Given the description of an element on the screen output the (x, y) to click on. 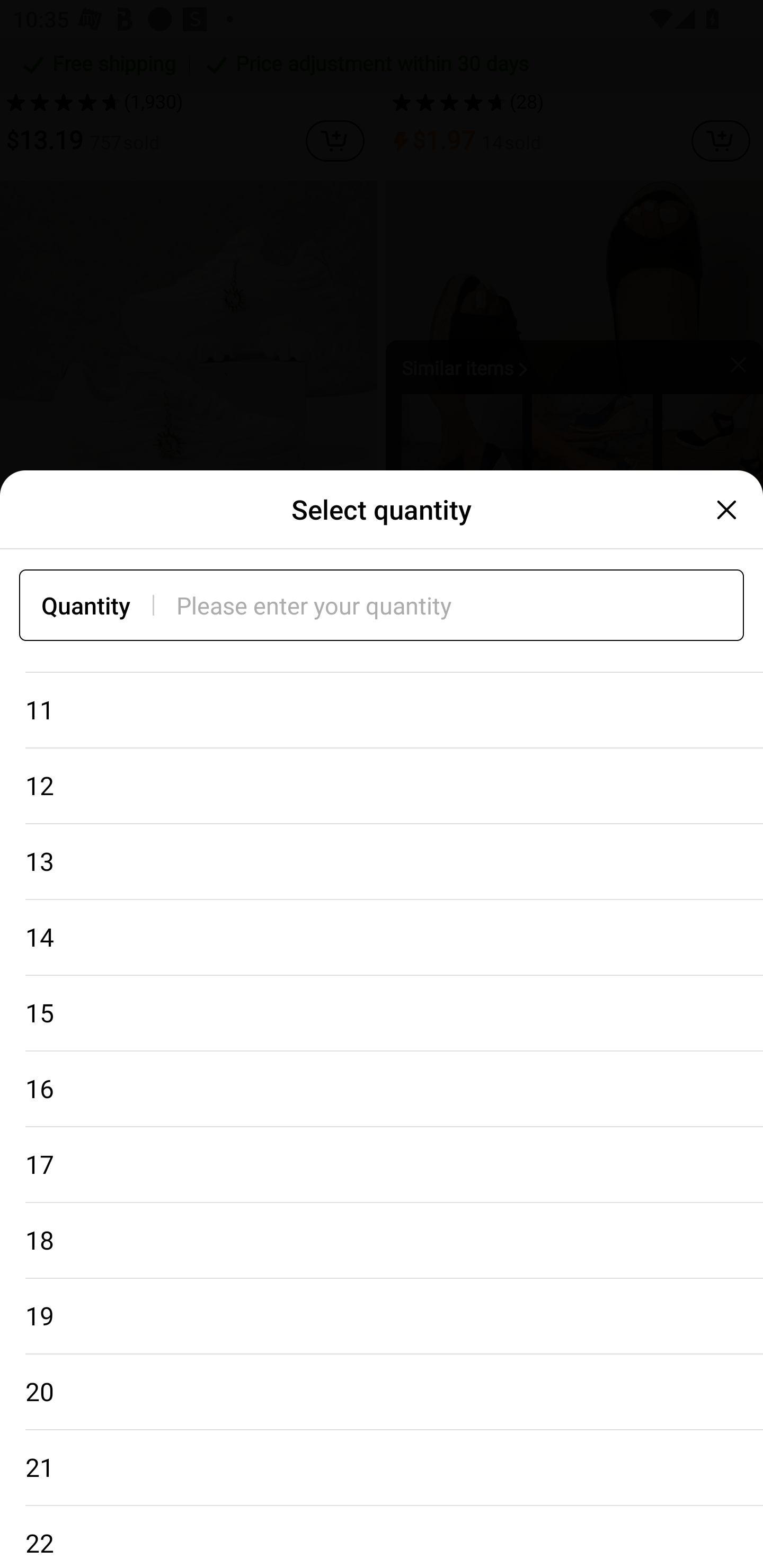
Please enter your quantity (459, 605)
11 (381, 709)
12 (381, 785)
13 (381, 862)
14 (381, 937)
15 (381, 1013)
16 (381, 1089)
17 (381, 1164)
18 (381, 1240)
19 (381, 1316)
20 (381, 1392)
21 (381, 1467)
22 (381, 1536)
